Given the description of an element on the screen output the (x, y) to click on. 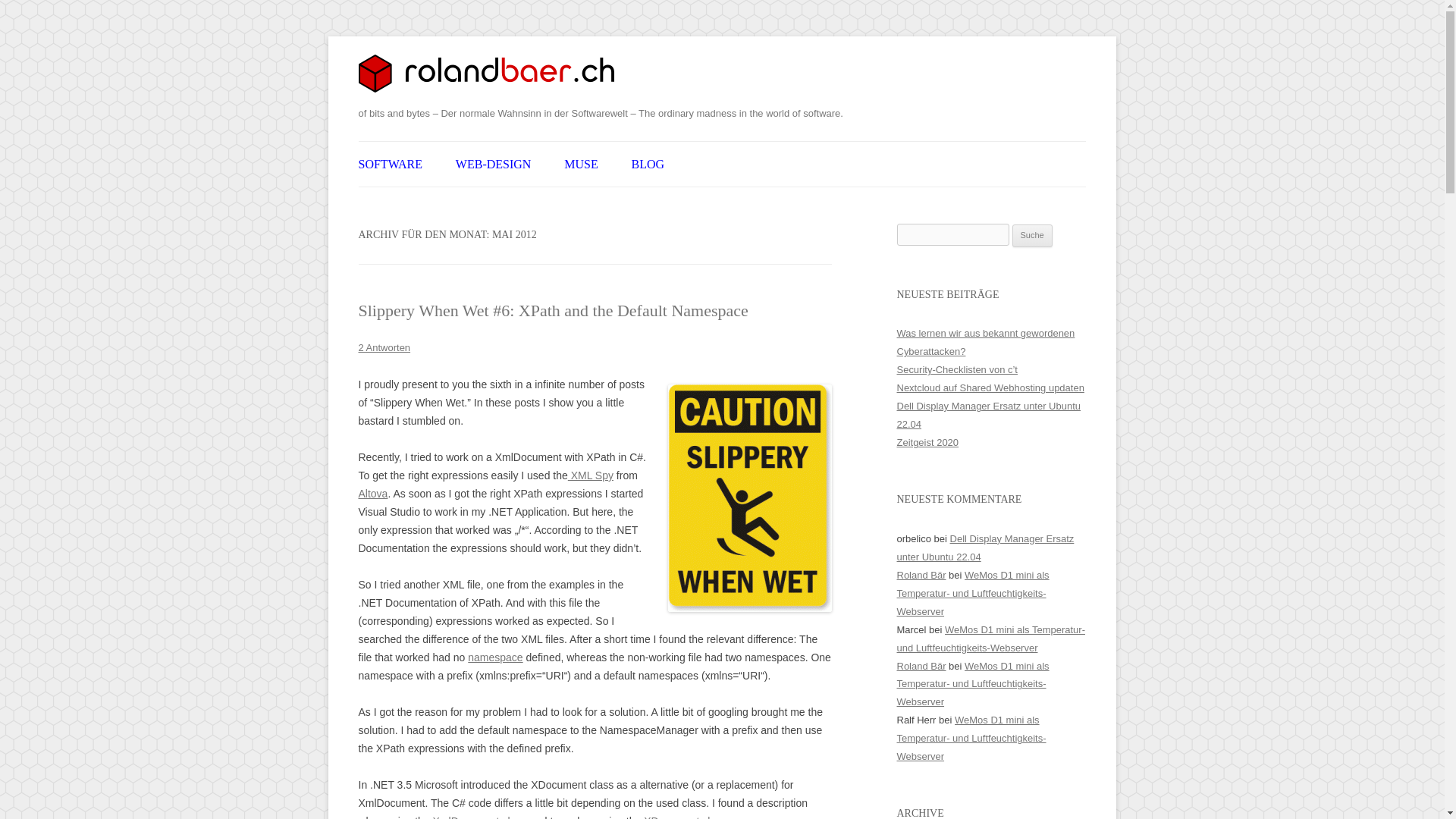
class (713, 816)
Was lernen wir aus bekannt gewordenen Cyberattacken? (985, 342)
Suche (1031, 235)
Zeitgeist 2020 (927, 441)
XML Spy (589, 475)
Nextcloud auf Shared Webhosting updaten (989, 387)
XmlDocument class (479, 816)
Dell Display Manager Ersatz unter Ubuntu 22.04 (988, 414)
XDocument (670, 816)
namespace (494, 657)
Suche (1031, 235)
